Given the description of an element on the screen output the (x, y) to click on. 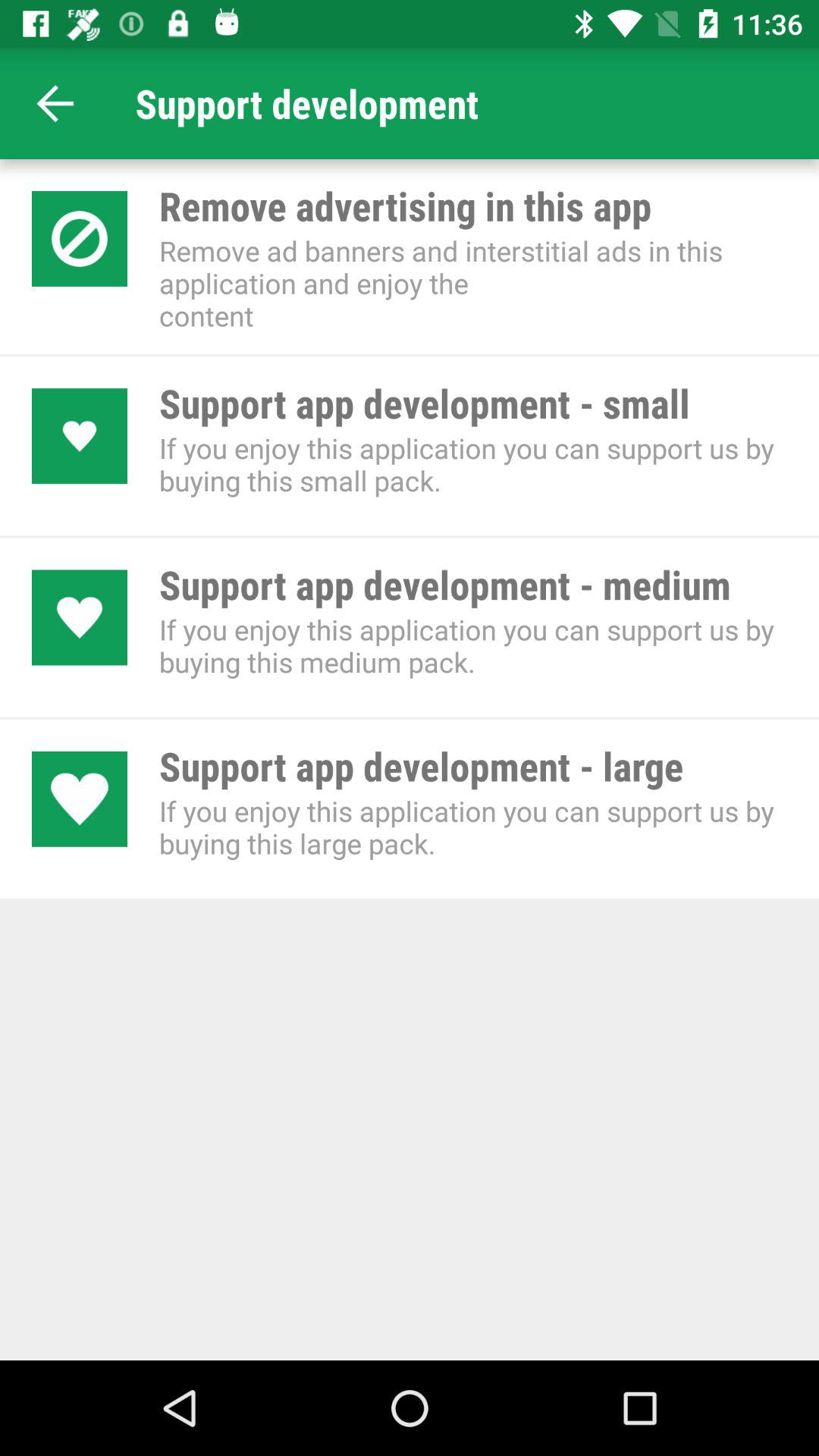
select the app next to support development icon (55, 103)
